Given the description of an element on the screen output the (x, y) to click on. 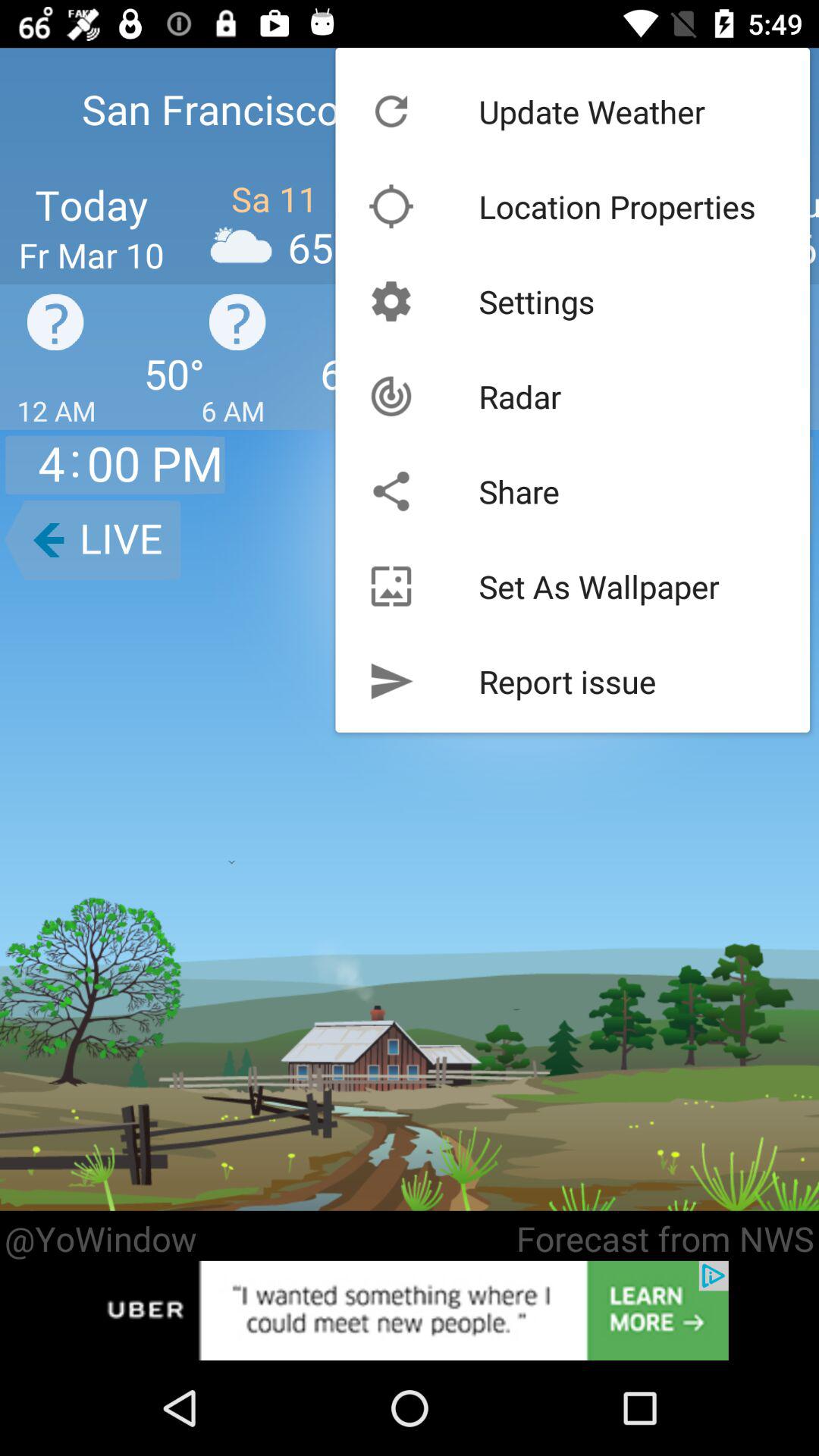
turn on icon above the location properties item (591, 111)
